Given the description of an element on the screen output the (x, y) to click on. 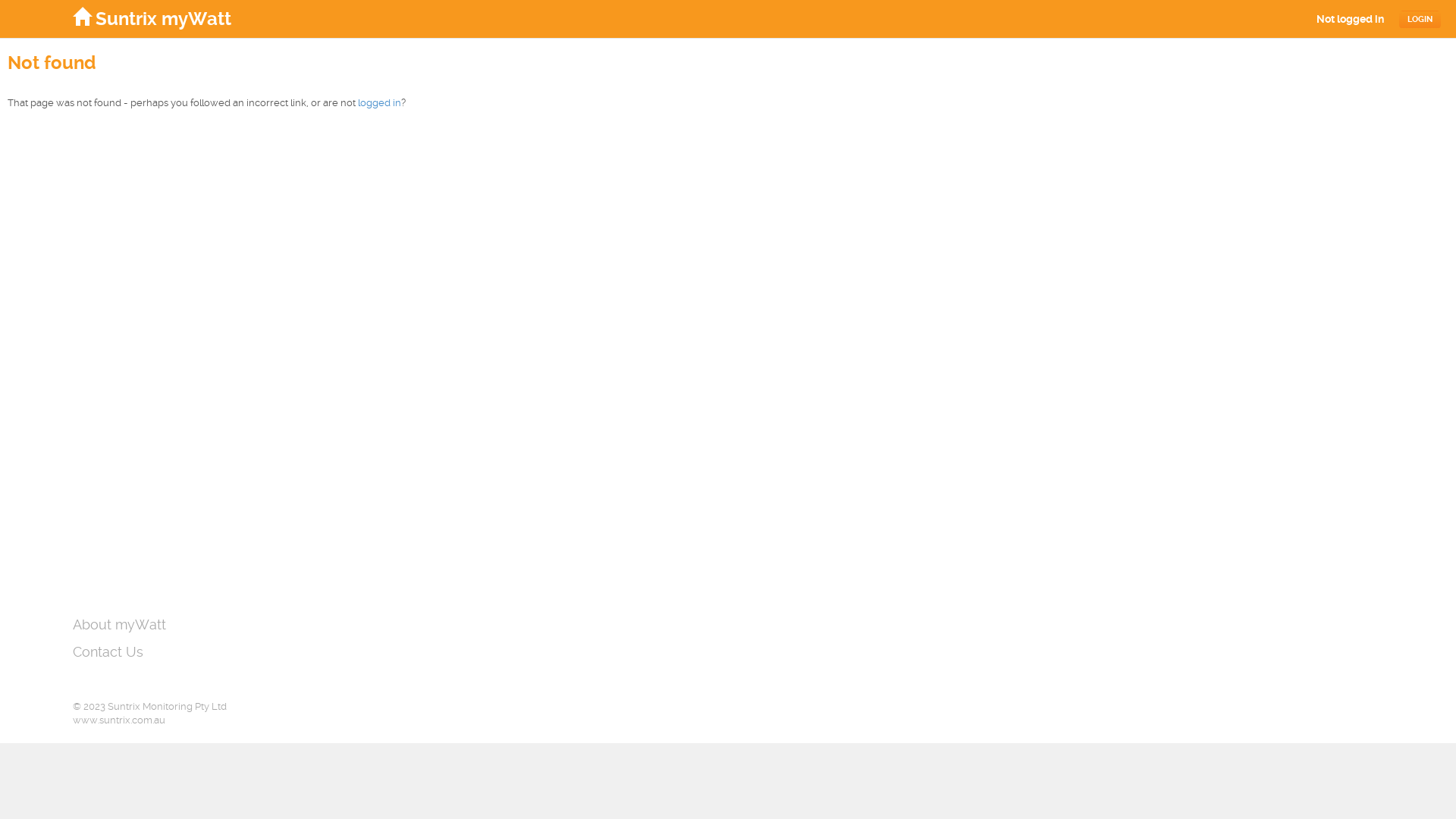
www.suntrix.com.au Element type: text (118, 719)
 Suntrix myWatt Element type: text (151, 18)
LOGIN Element type: text (1419, 19)
logged in Element type: text (379, 102)
About myWatt Element type: text (119, 624)
Contact Us Element type: text (107, 651)
